Given the description of an element on the screen output the (x, y) to click on. 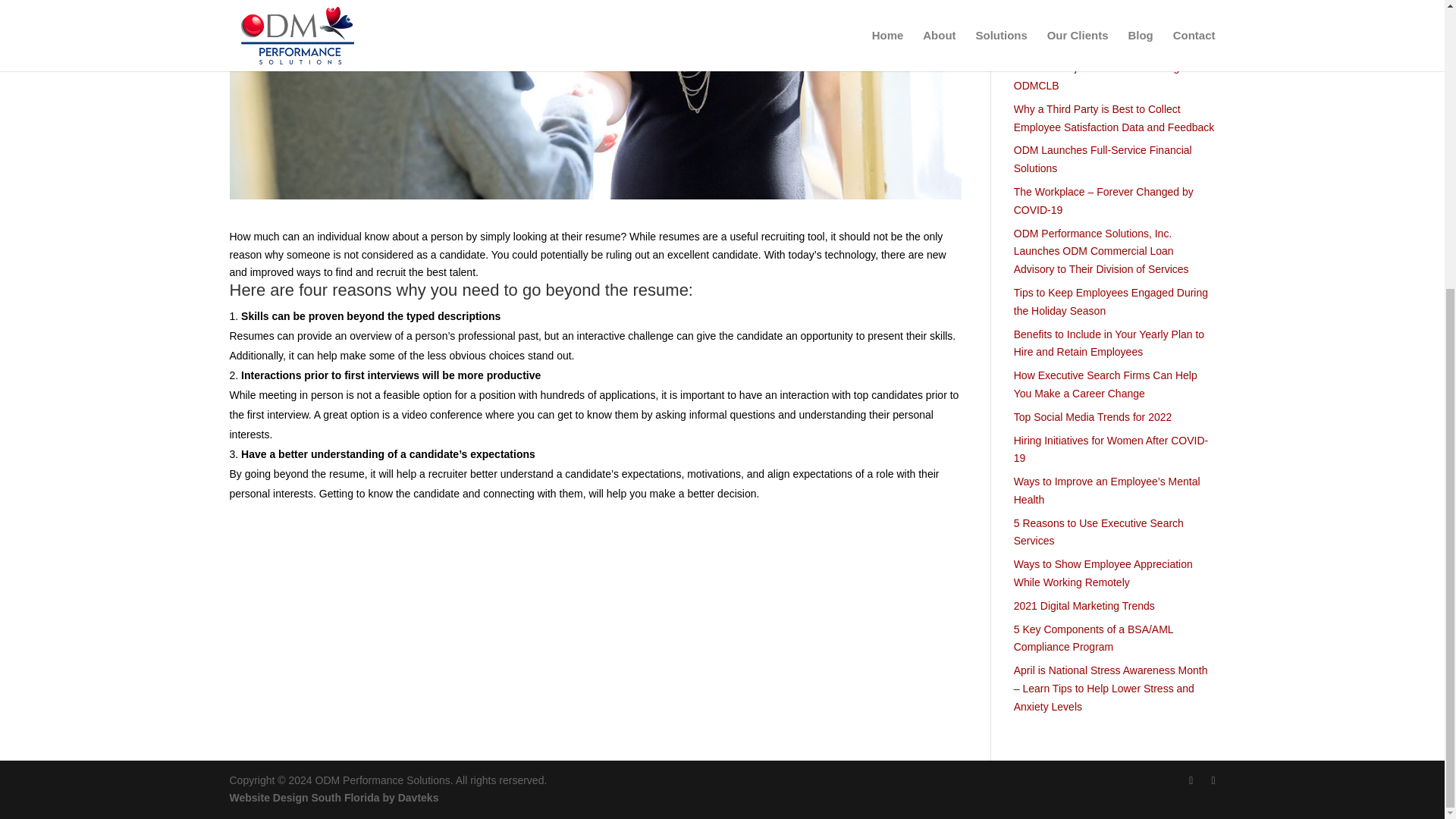
Tips to Keep Employees Engaged During the Holiday Season (1110, 301)
3 Reasons to Look Beyond the Resume (1107, 21)
ODM Launches Full-Service Financial Solutions (1102, 159)
Davteks Enterprises (333, 797)
6 Ways to Improve Employee Productivity (1111, 43)
What to Add and What Not to Add on Your Resume (1112, 2)
Get Your Projects Financed Through ODMCLB (1099, 76)
